Given the description of an element on the screen output the (x, y) to click on. 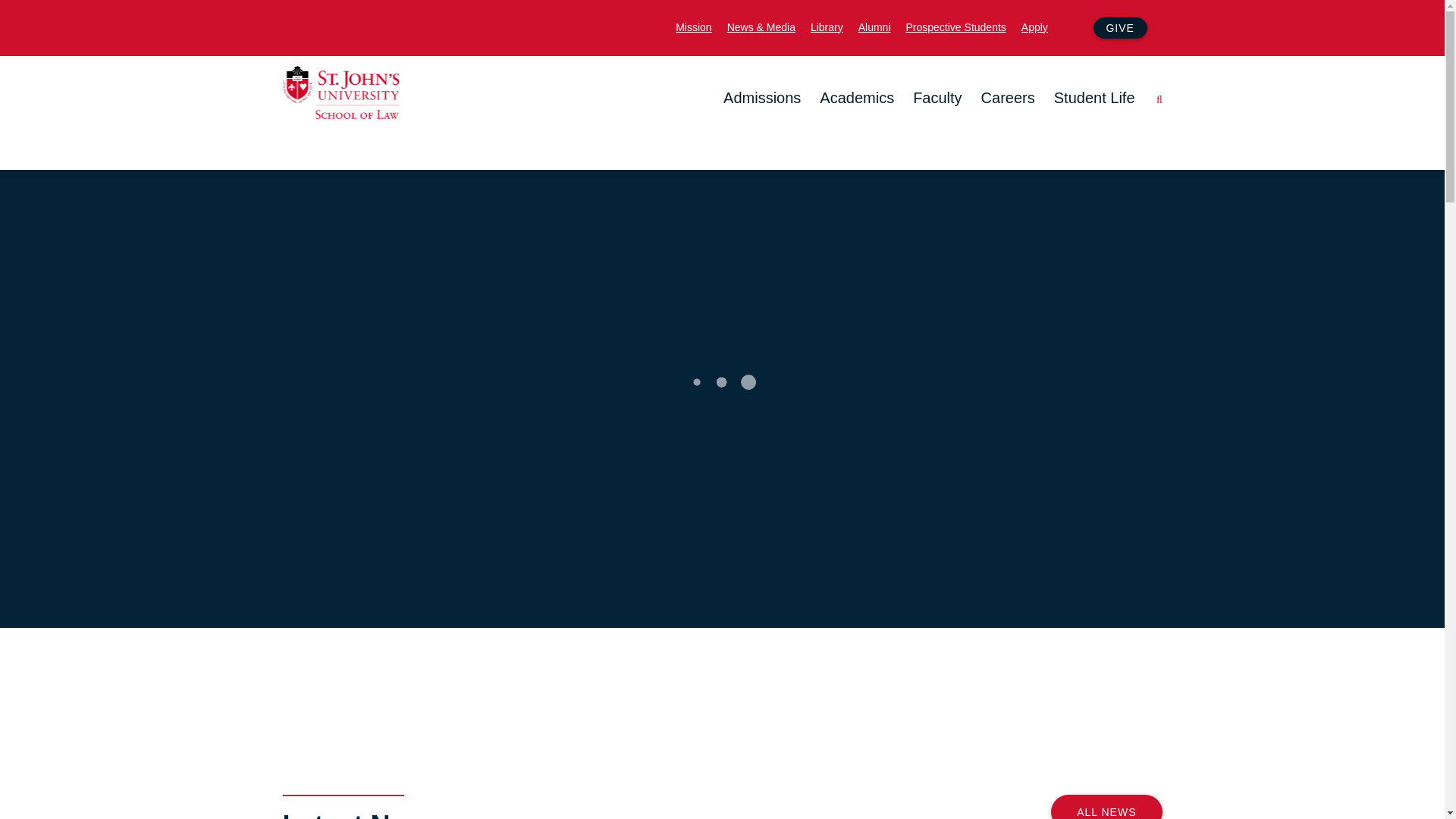
Academics (856, 97)
Alumni (875, 26)
Prospective Students (955, 26)
Admissions (761, 97)
Careers (1008, 97)
GIVE (1120, 27)
Library (826, 26)
Student Life (1094, 97)
Mission (693, 26)
Apply (1035, 26)
Faculty (936, 97)
